Given the description of an element on the screen output the (x, y) to click on. 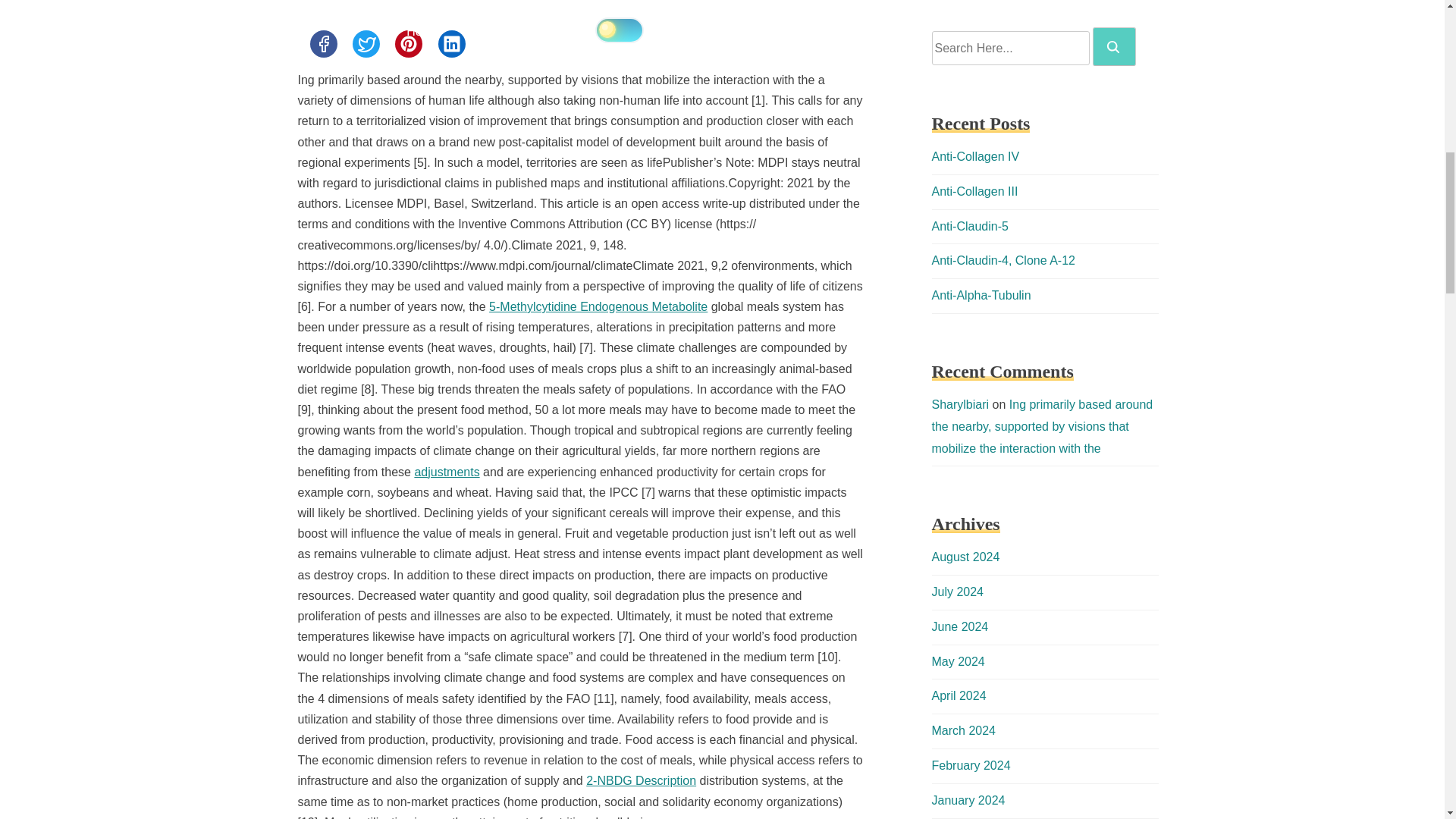
Share this post on Linkedin (451, 43)
5-Methylcytidine Endogenous Metabolite (598, 306)
Anti-Collagen IV (975, 155)
Anti-Collagen III (974, 191)
Anti-Claudin-5 (969, 226)
Share this post on Twitter (366, 43)
adjustments (446, 472)
Share this post on Facebook (322, 43)
2-NBDG Description (640, 780)
Search (1113, 46)
